Given the description of an element on the screen output the (x, y) to click on. 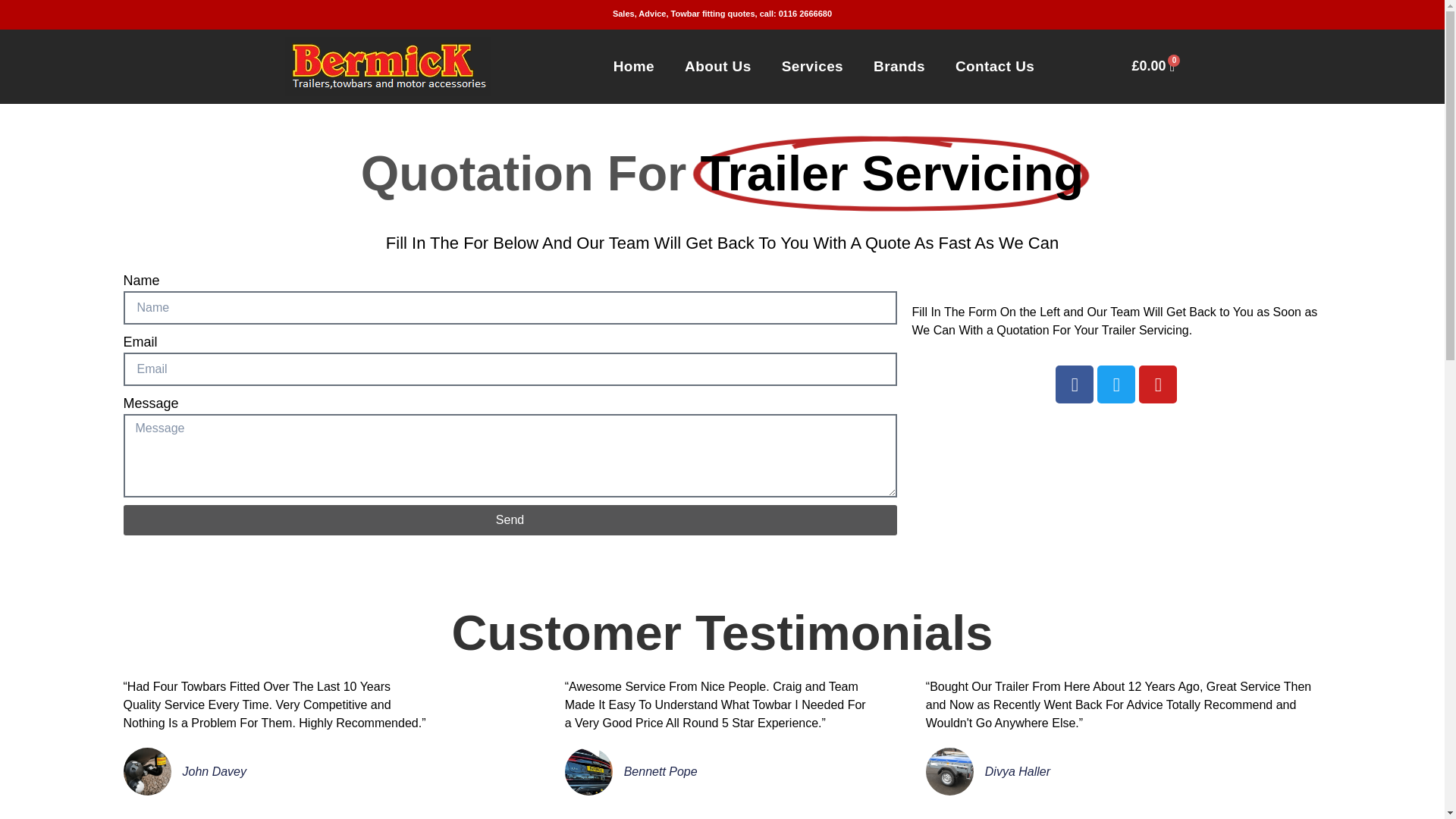
Brands (899, 66)
Services (813, 66)
Send (509, 520)
Home (633, 66)
Contact Us (994, 66)
About Us (718, 66)
